Given the description of an element on the screen output the (x, y) to click on. 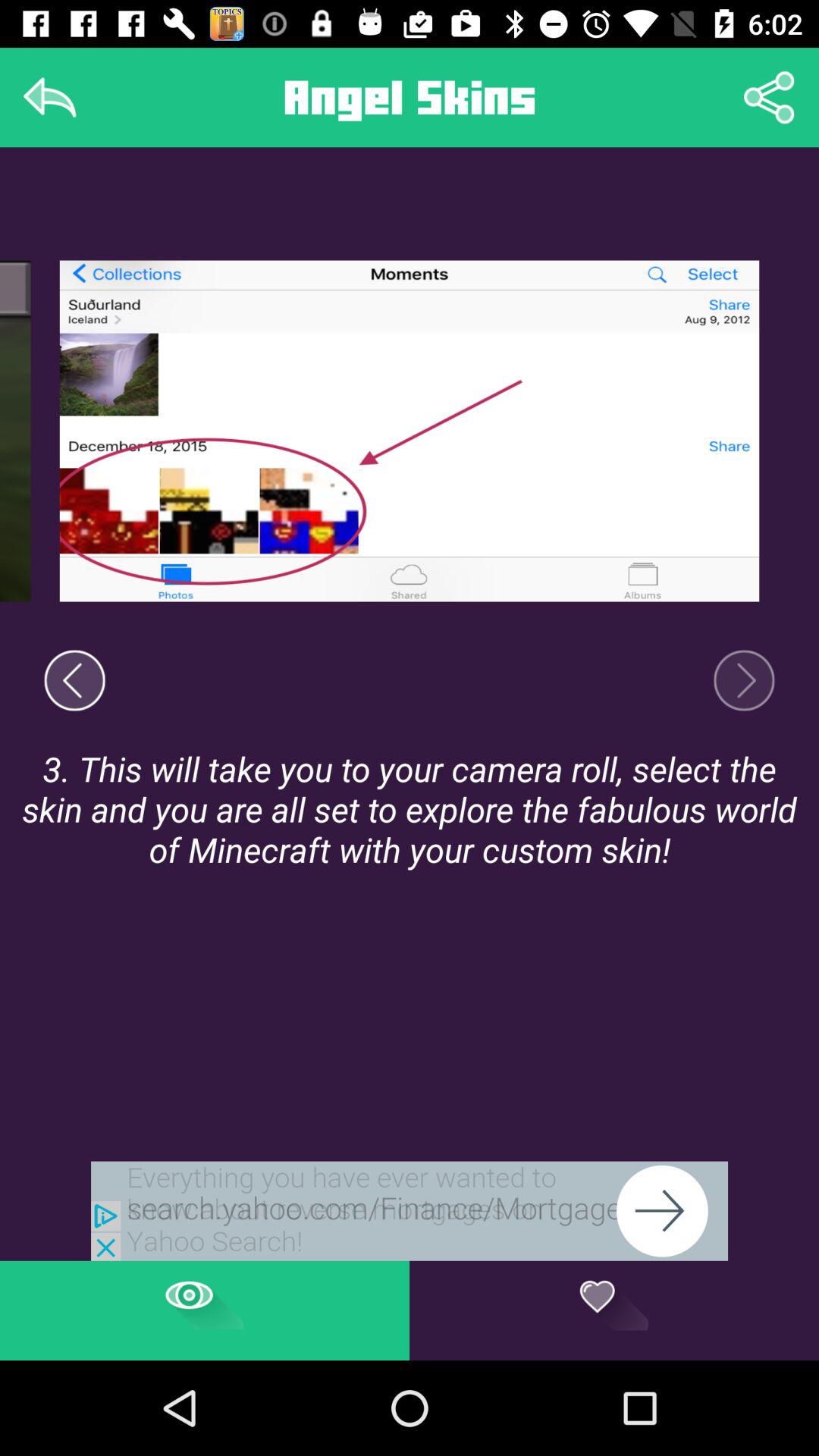
go to the next screen (744, 680)
